Given the description of an element on the screen output the (x, y) to click on. 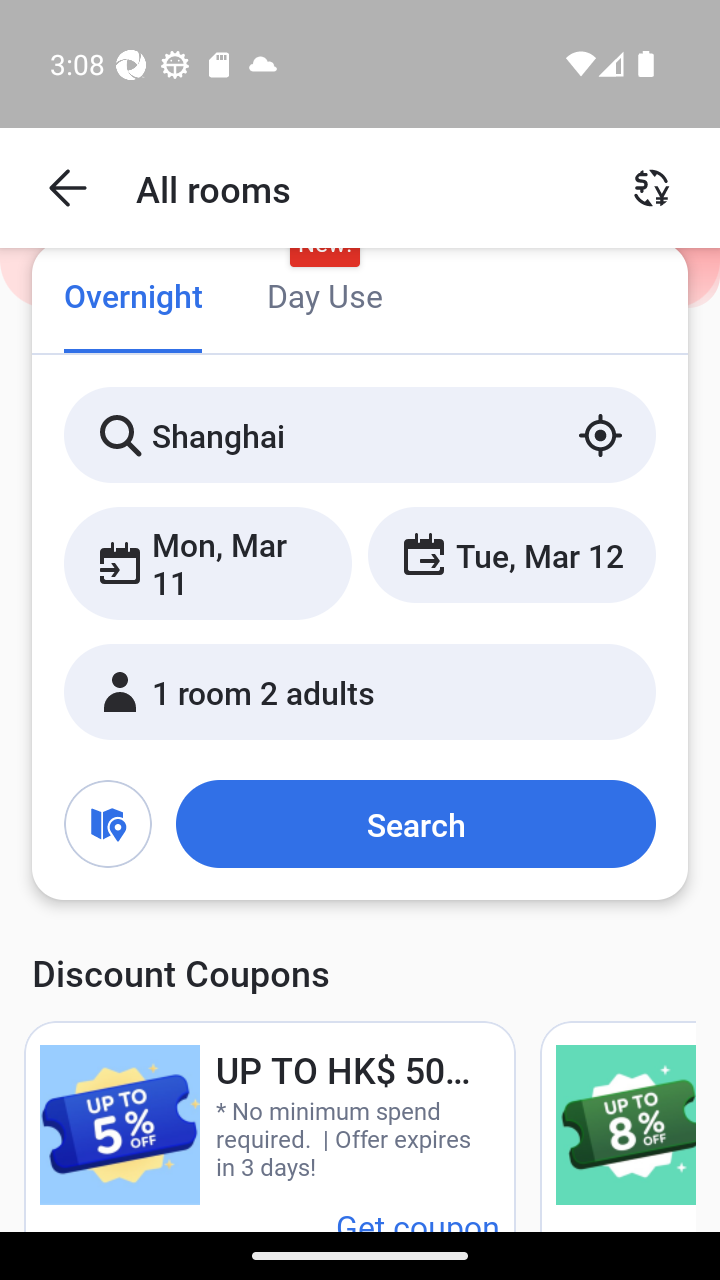
Day Use (324, 298)
Shanghai (359, 434)
Mon, Mar 11 (208, 562)
Tue, Mar 12 (511, 554)
1 room 2 adults (359, 691)
Search (415, 823)
